Given the description of an element on the screen output the (x, y) to click on. 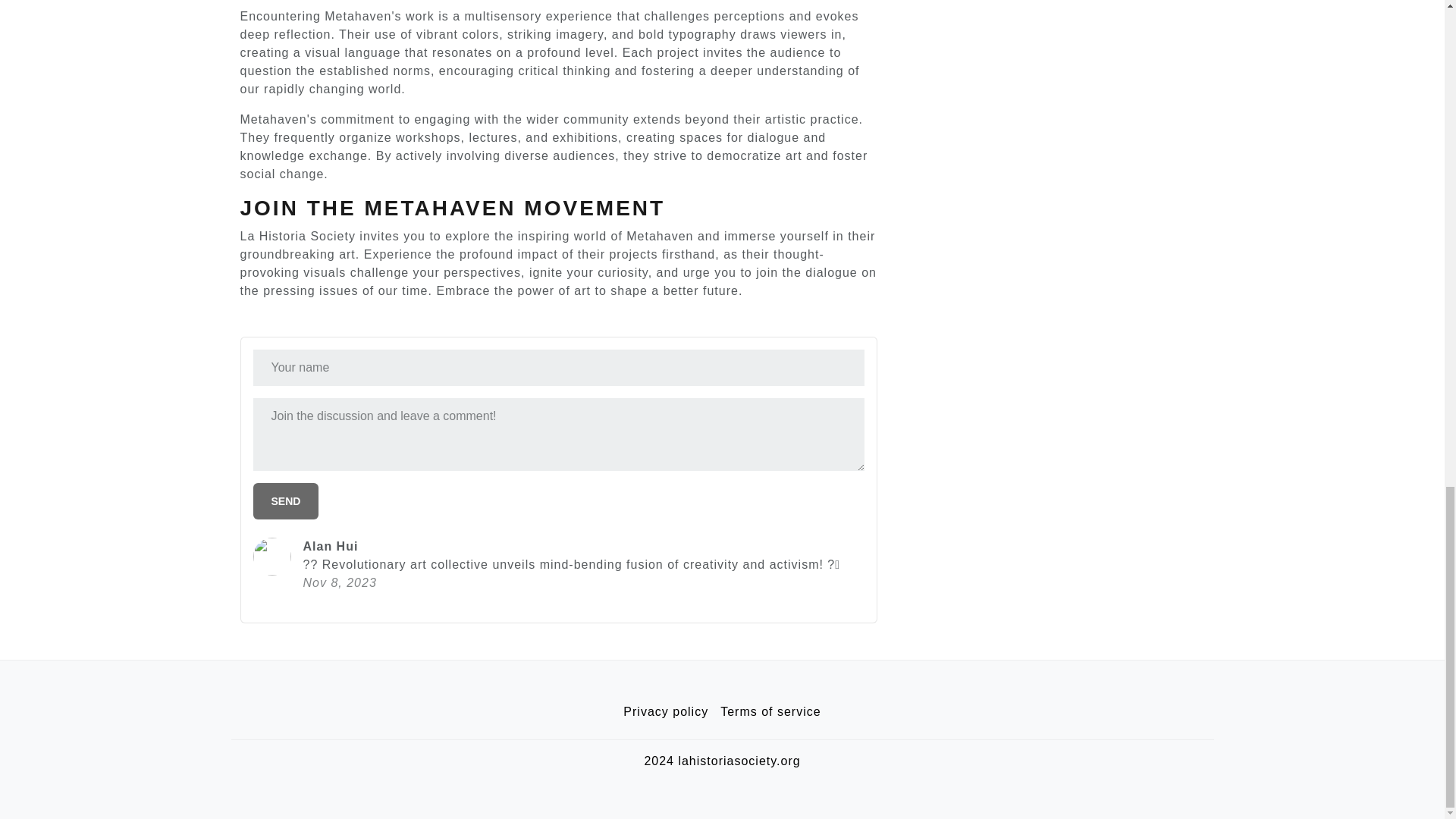
Send (285, 501)
Send (285, 501)
Terms of service (770, 711)
Privacy policy (665, 711)
